Given the description of an element on the screen output the (x, y) to click on. 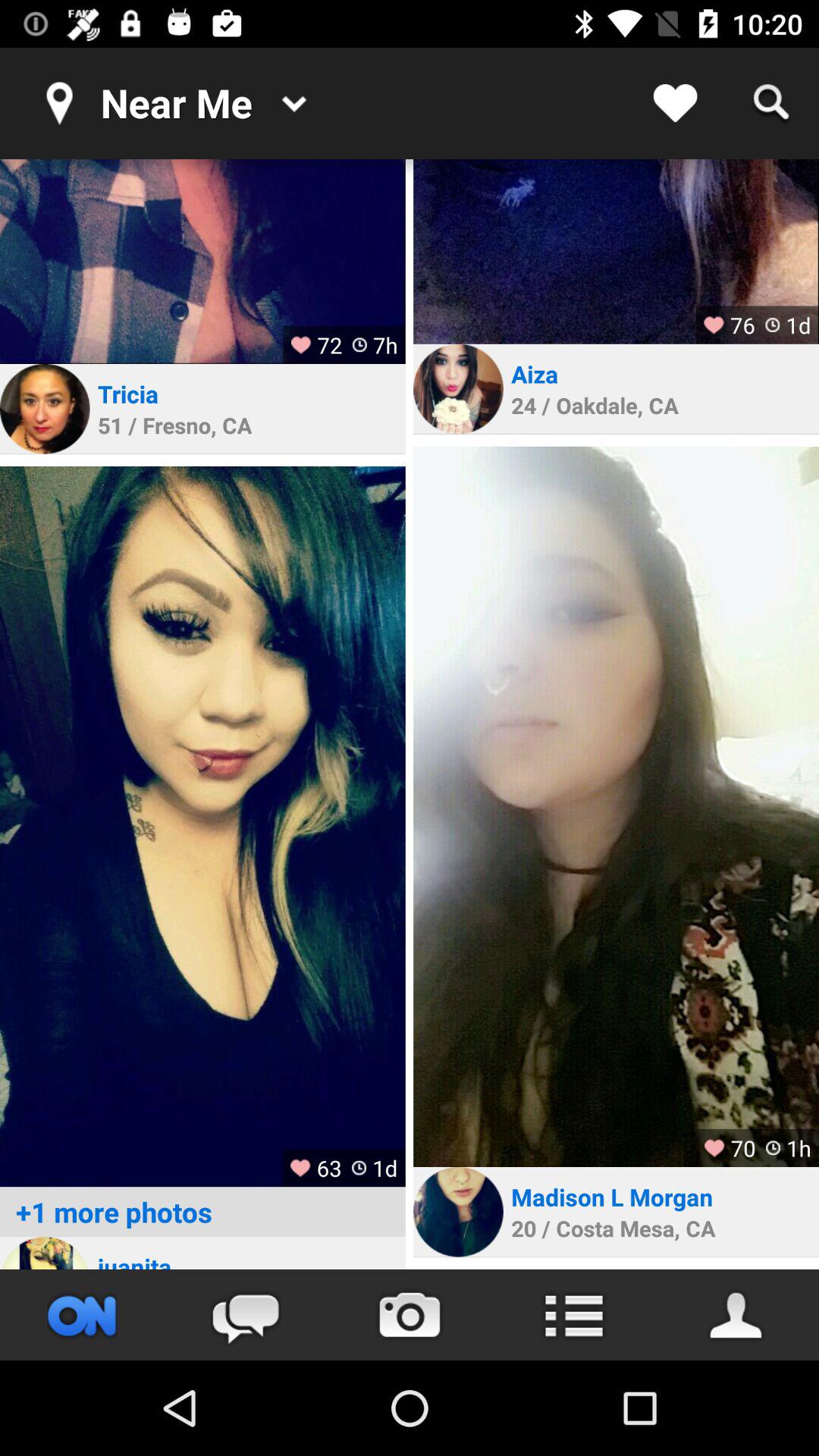
open profile (616, 251)
